Given the description of an element on the screen output the (x, y) to click on. 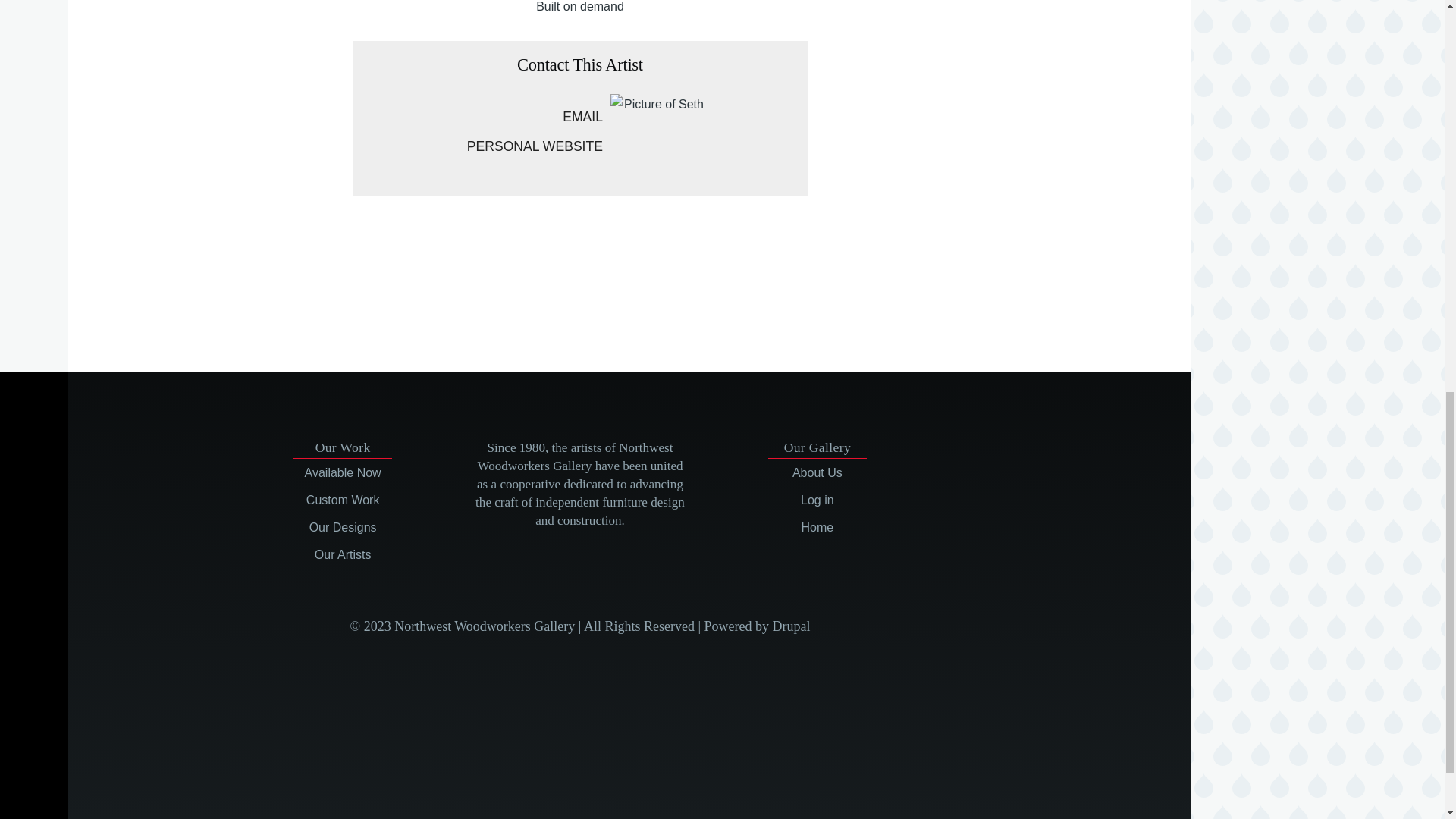
Some thoughts about ordering a custom design (342, 499)
Our member artists (342, 554)
Custom Work (342, 499)
Log in (817, 499)
free printable coloring pages (550, 269)
Seth Rolland (657, 141)
Information about our gallery (817, 472)
mma-pop.ru (549, 288)
Work that is built and ready to available for purchase (342, 472)
baixar video reedit (548, 251)
EMAIL (477, 117)
Our home page (816, 526)
A list of the types of furniture we make (342, 526)
About Us (817, 472)
Our Designs (342, 526)
